Given the description of an element on the screen output the (x, y) to click on. 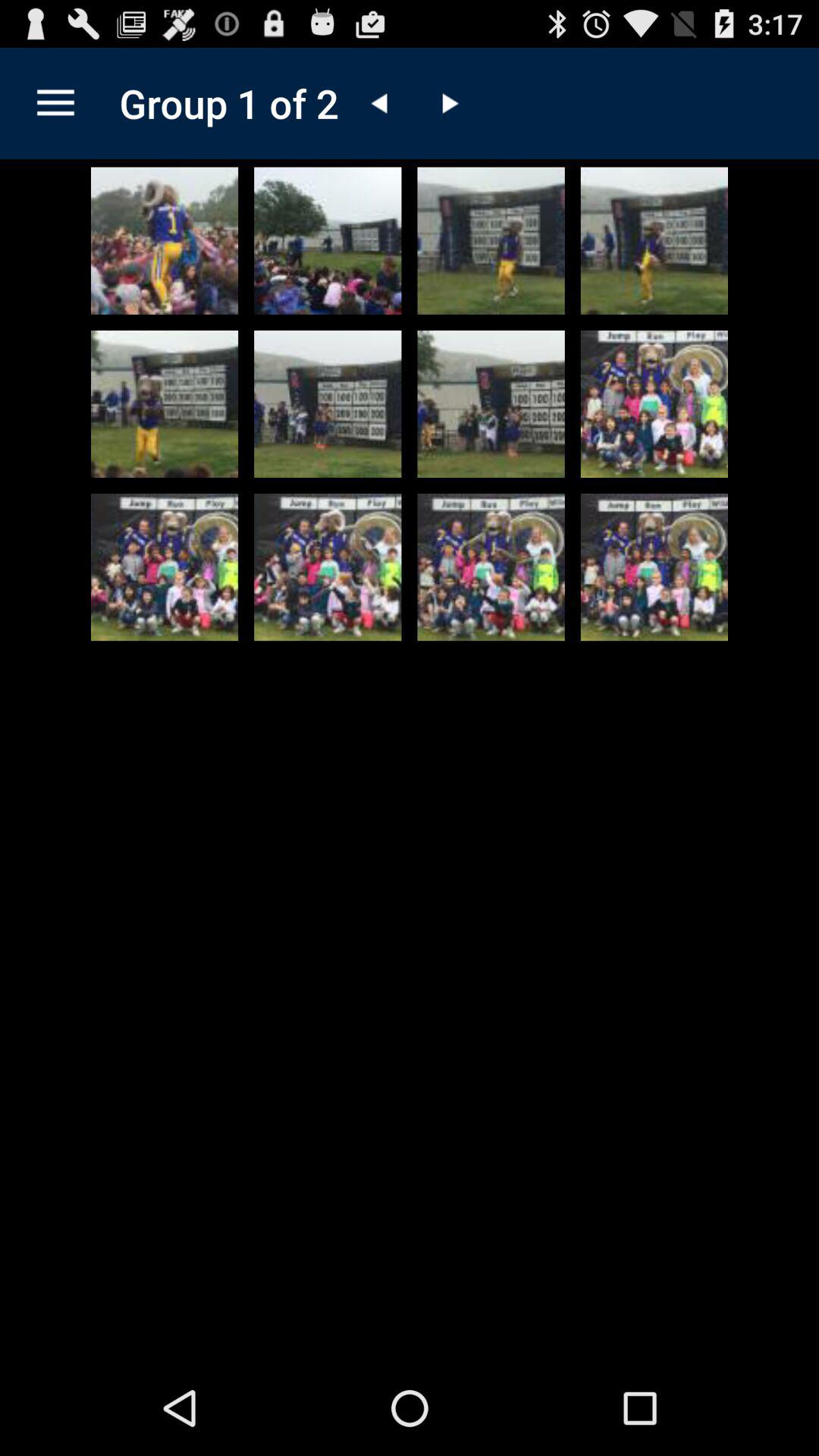
select the image of the team (654, 403)
